Given the description of an element on the screen output the (x, y) to click on. 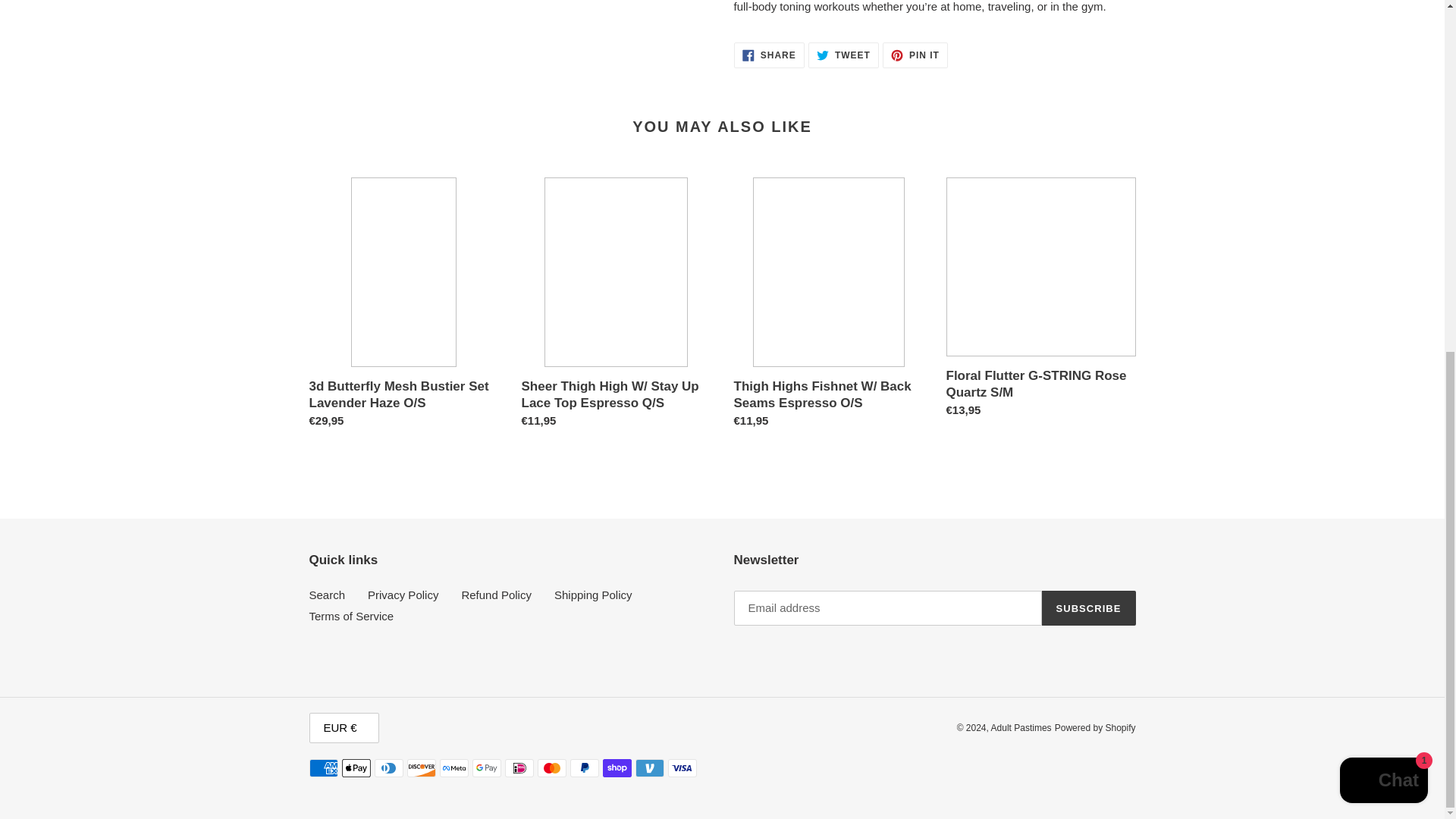
Shopify online store chat (914, 54)
